Given the description of an element on the screen output the (x, y) to click on. 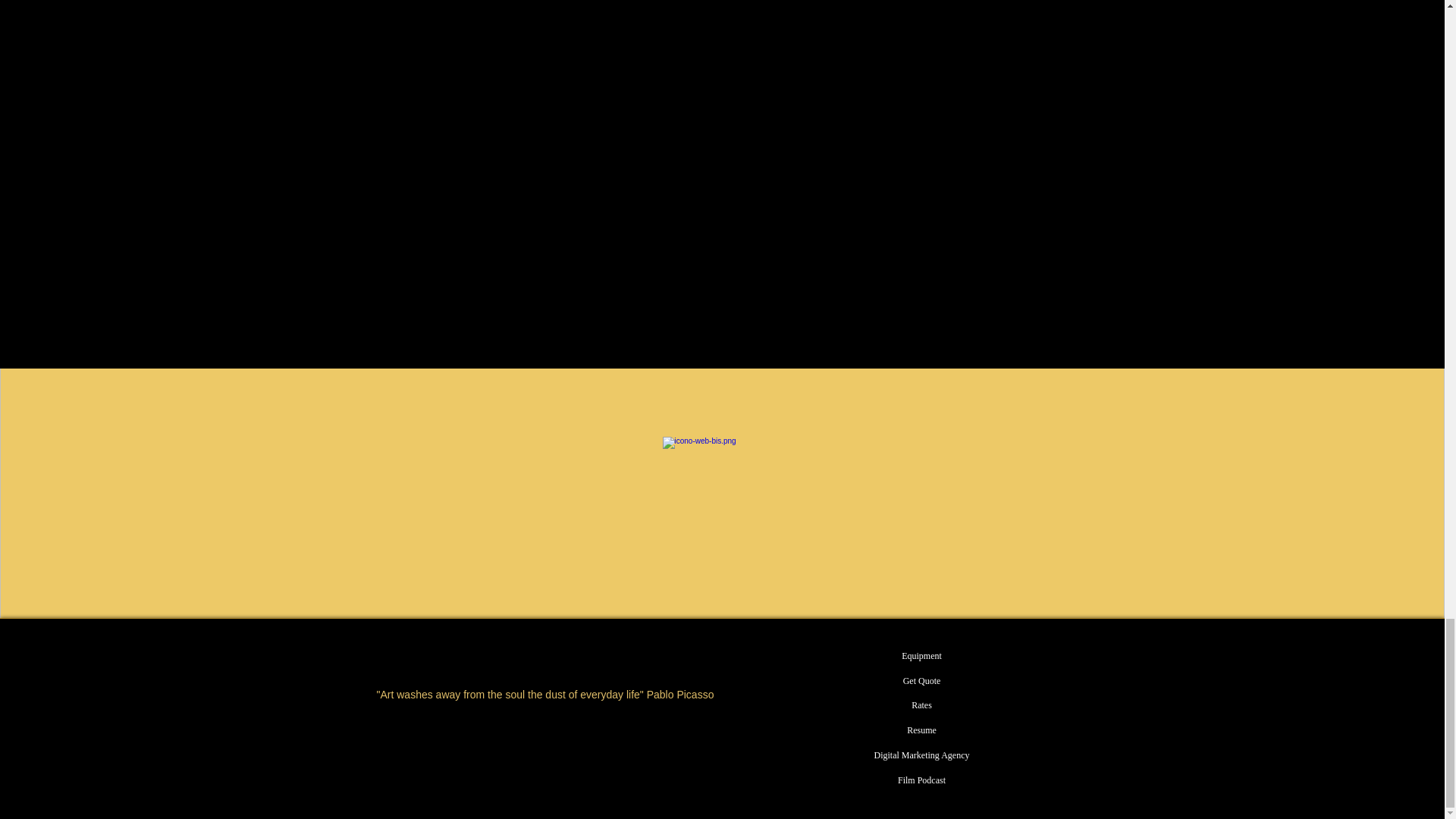
Rates (921, 705)
Film Podcast (921, 780)
Digital Marketing Agency (921, 755)
Resume (921, 730)
Get Quote (921, 680)
Equipment (921, 656)
